Given the description of an element on the screen output the (x, y) to click on. 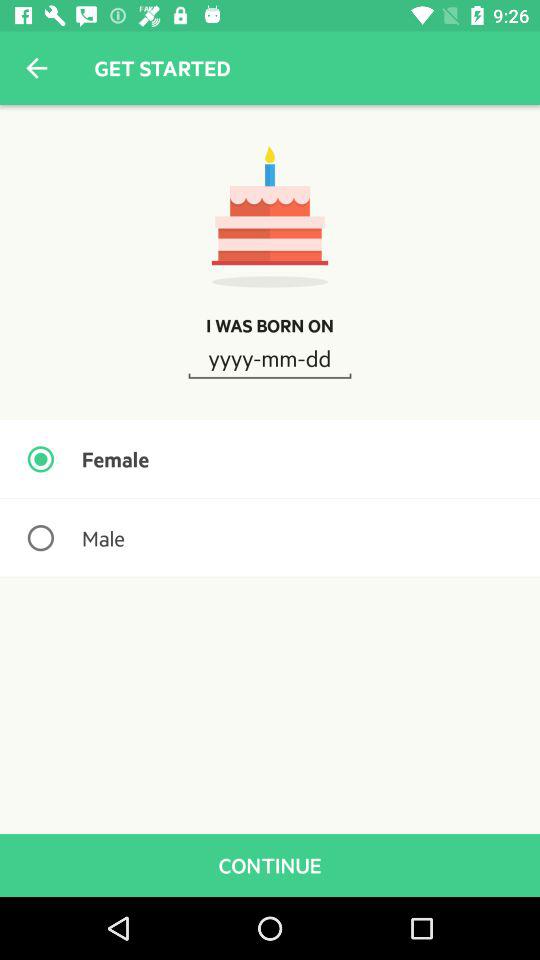
turn on item below female (270, 537)
